Given the description of an element on the screen output the (x, y) to click on. 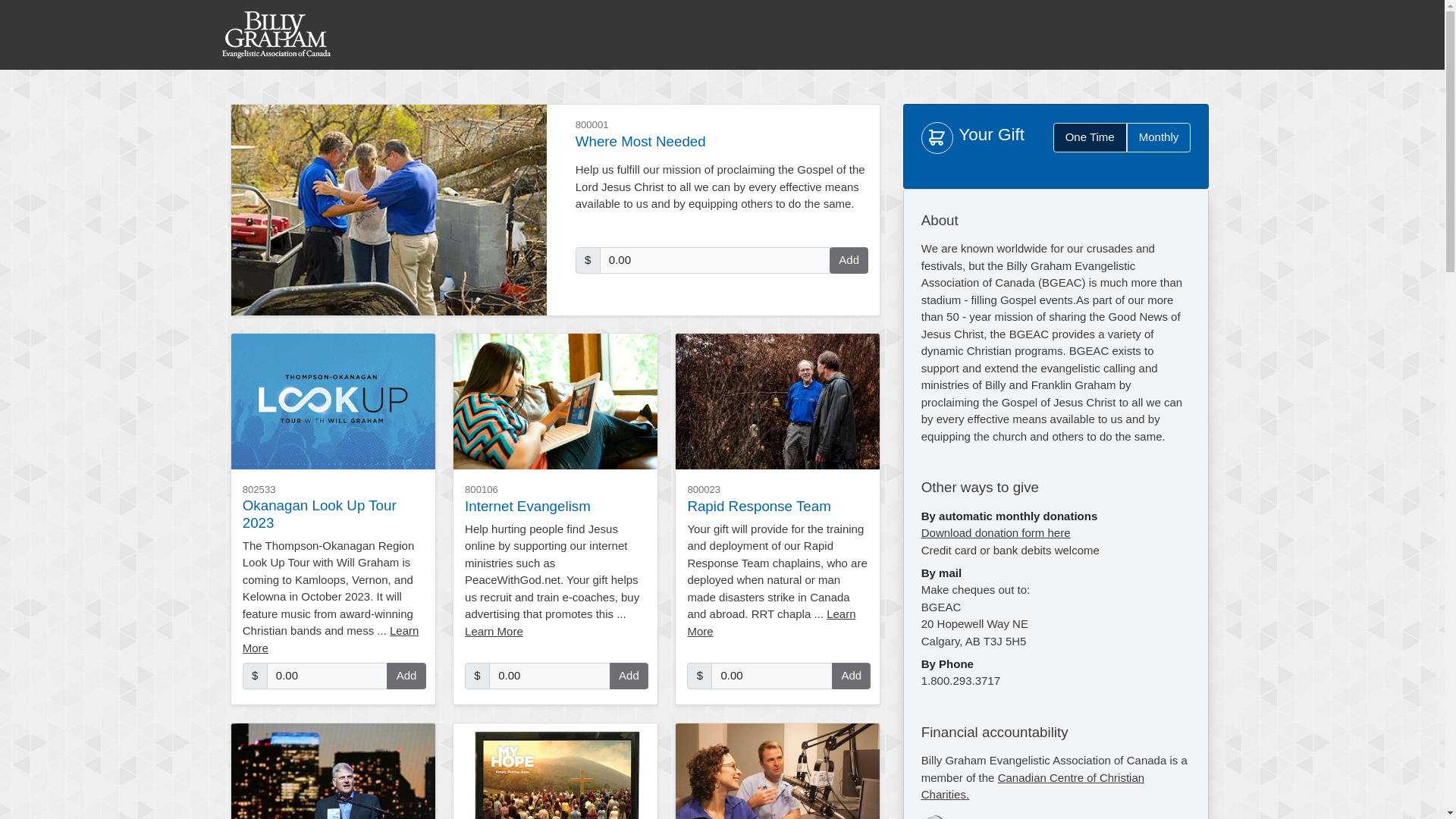
One Time Element type: text (1089, 137)
Monthly Element type: text (1158, 137)
Download donation form here Element type: text (995, 532)
Add Element type: text (628, 676)
Add Element type: text (405, 676)
Canadian Centre of Christian Charities. Element type: text (1032, 785)
Learn More Element type: text (330, 639)
Learn More Element type: text (771, 622)
Add Element type: text (850, 676)
Add Element type: text (848, 260)
Learn More Element type: text (493, 630)
